Given the description of an element on the screen output the (x, y) to click on. 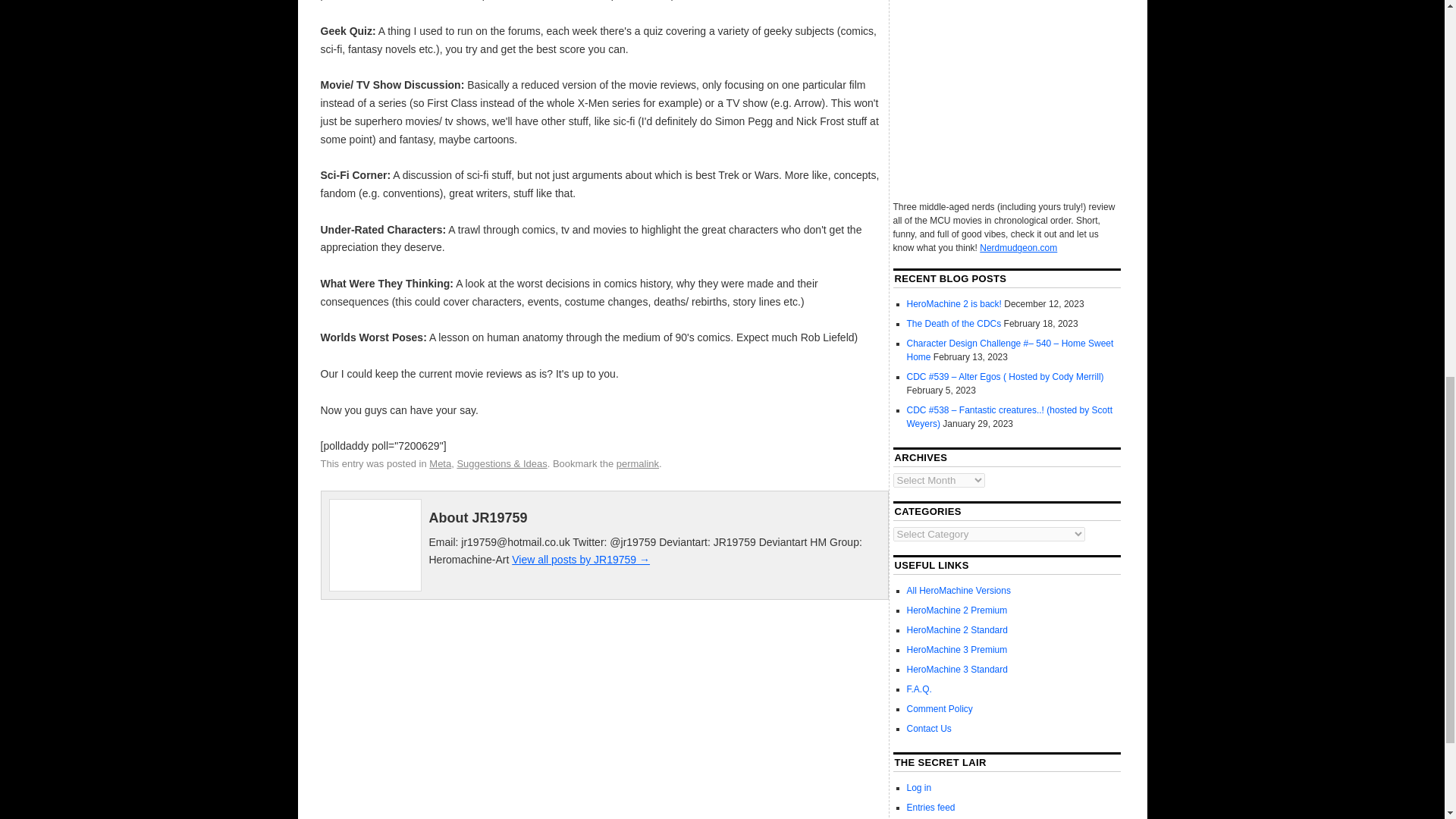
All HeroMachine Versions (958, 590)
Nerdmudgeon.com (1018, 247)
HeroMachine 2 Standard (957, 629)
permalink (637, 463)
Comment Policy (939, 708)
HeroMachine 2 Premium (957, 610)
Meta (440, 463)
HeroMachine 3 Premium (957, 649)
Permalink to New Blog Topic Ideas (637, 463)
HeroMachine 2 is back! (954, 303)
F.A.Q. (919, 688)
The Death of the CDCs (954, 323)
HeroMachine 3 Standard (957, 669)
